Given the description of an element on the screen output the (x, y) to click on. 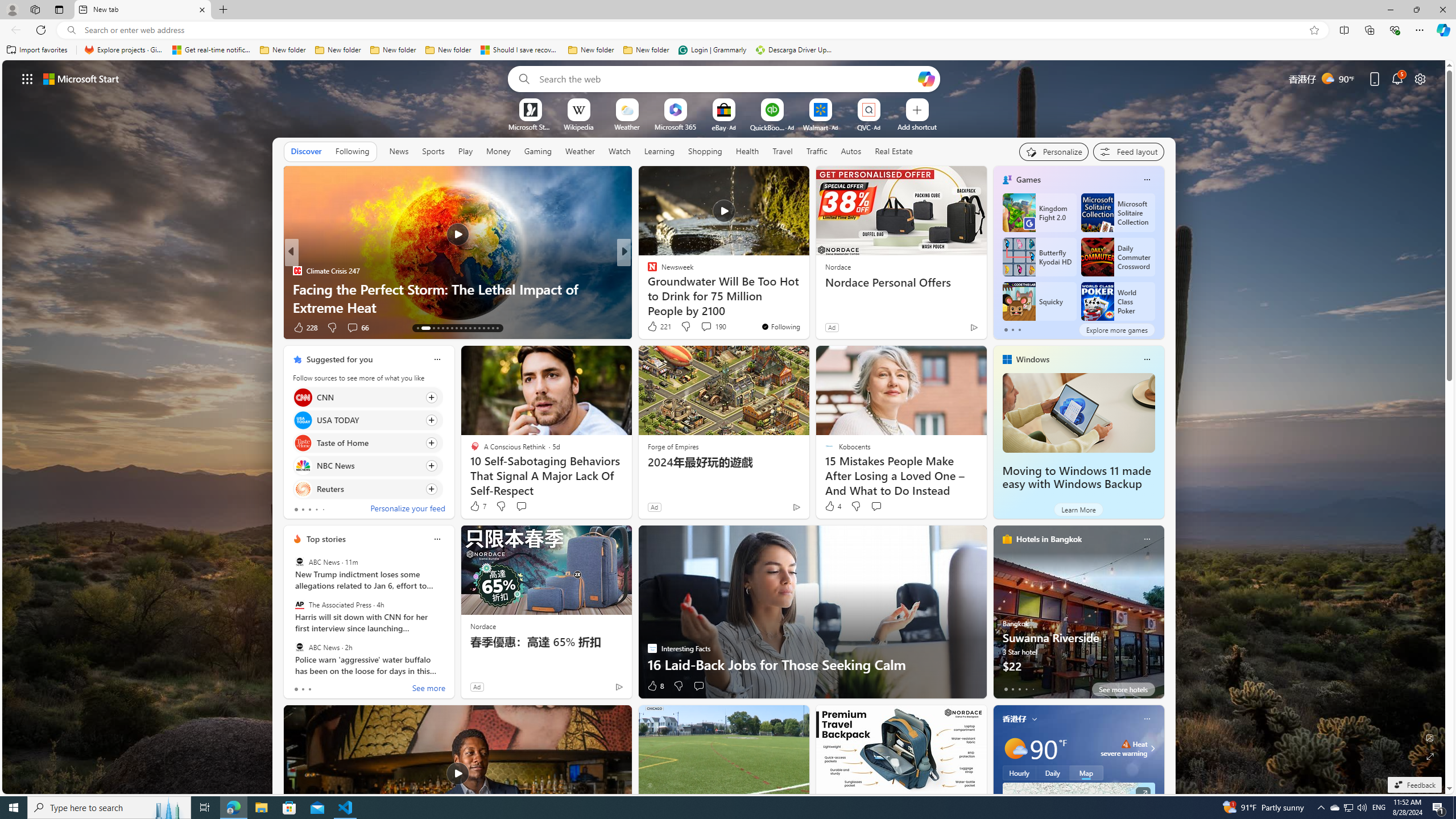
Login | Grammarly (712, 49)
